Given the description of an element on the screen output the (x, y) to click on. 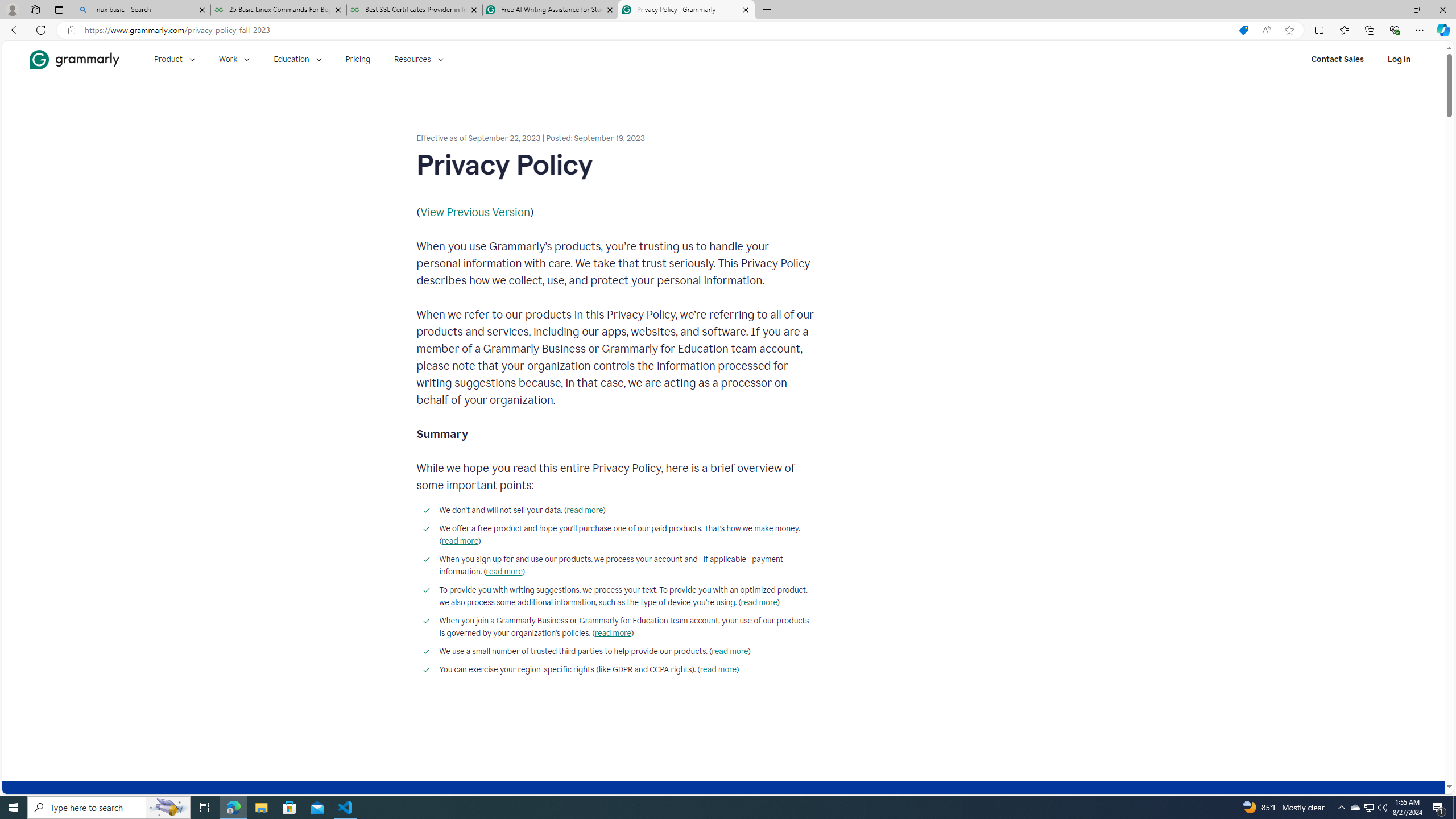
Product (174, 58)
linux basic - Search (142, 9)
Education (297, 58)
